Given the description of an element on the screen output the (x, y) to click on. 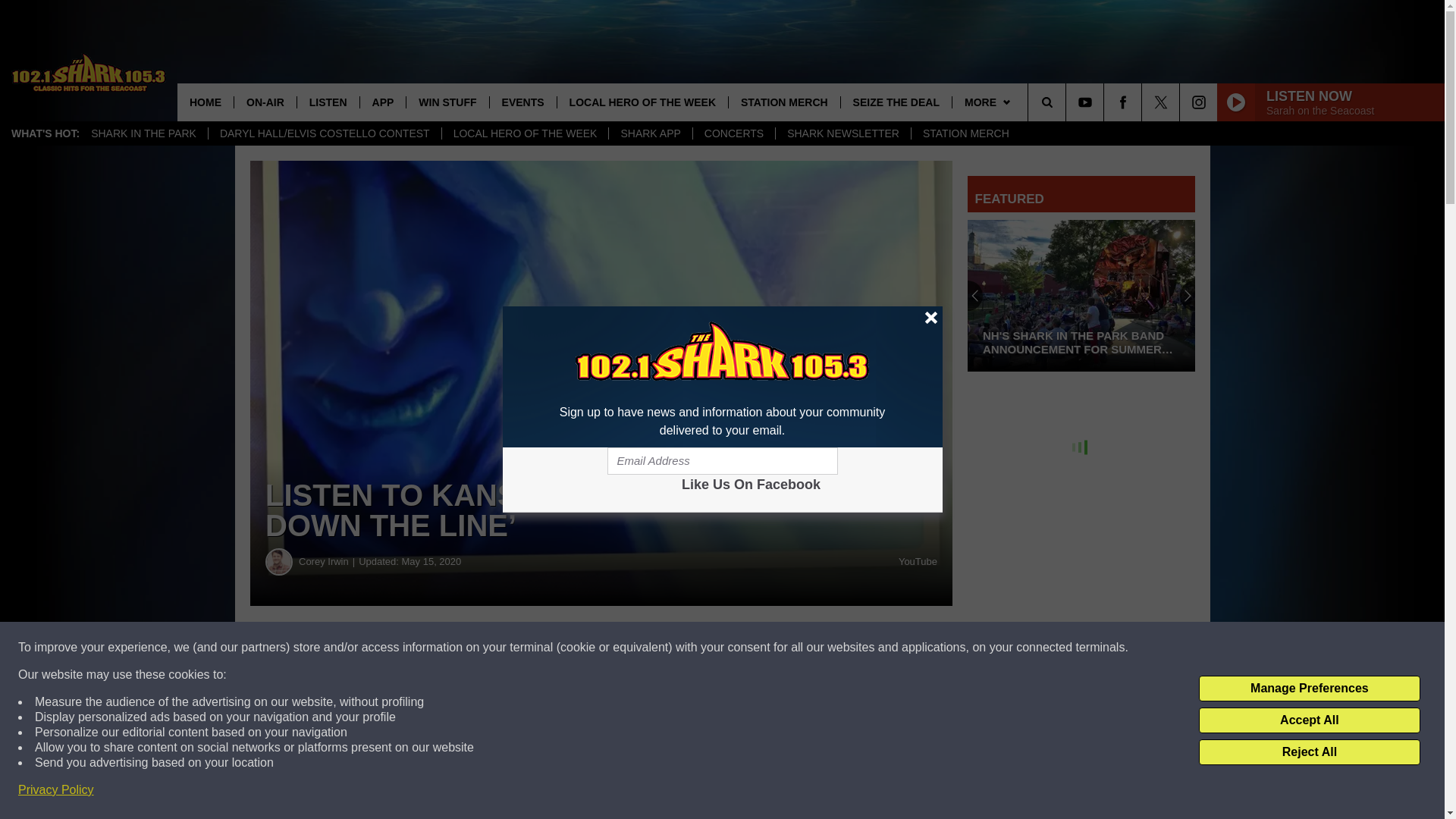
Email Address (722, 461)
HOME (204, 102)
APP (382, 102)
Accept All (1309, 720)
SEARCH (1068, 102)
LOCAL HERO OF THE WEEK (524, 133)
Manage Preferences (1309, 688)
EVENTS (522, 102)
CONCERTS (733, 133)
Share on Twitter (741, 647)
Privacy Policy (55, 789)
LISTEN (328, 102)
SHARK NEWSLETTER (842, 133)
ON-AIR (264, 102)
LOCAL HERO OF THE WEEK (642, 102)
